Given the description of an element on the screen output the (x, y) to click on. 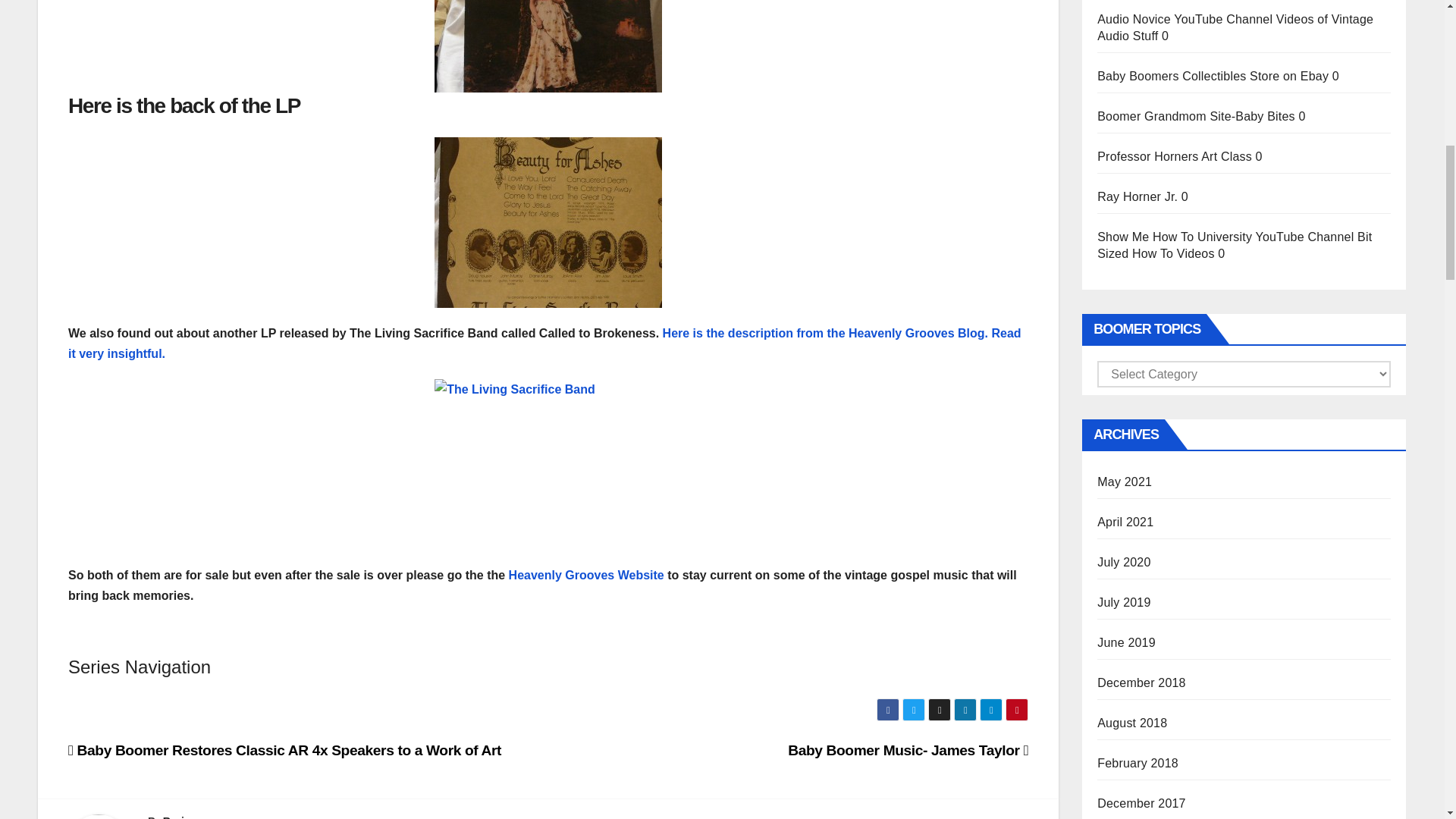
Baby Boomer Restores Classic AR 4x Speakers to a Work of Art (284, 750)
Back of LP Beauty for Ashes (547, 222)
Baby Boomer Music- James Taylor (907, 750)
Call To Brokeness- (547, 464)
Heavenly Grooves Website (588, 574)
P1030237 (547, 46)
